Given the description of an element on the screen output the (x, y) to click on. 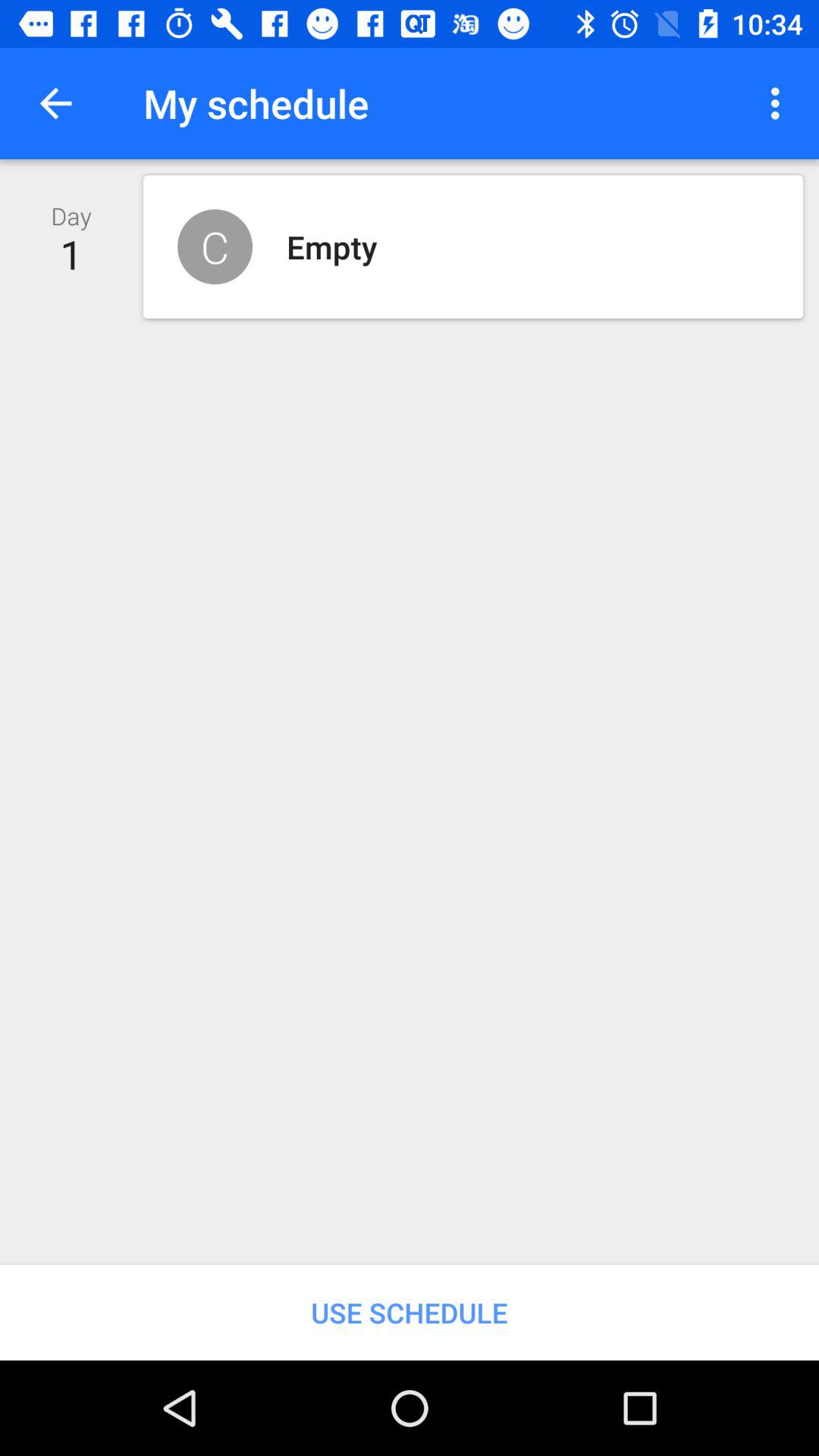
click item above the day
1 icon (55, 103)
